Given the description of an element on the screen output the (x, y) to click on. 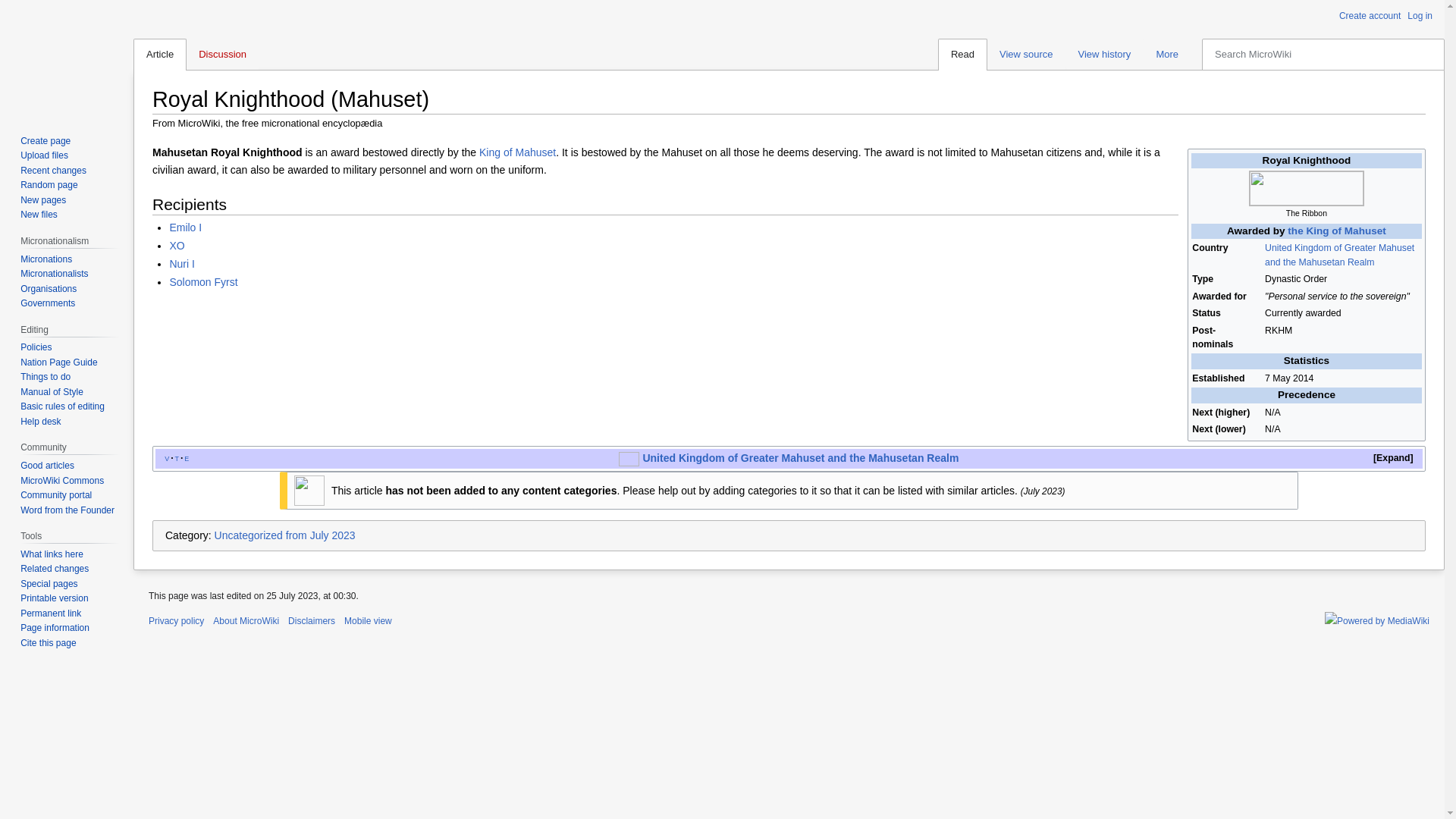
XO (176, 245)
Emiel Hardy (185, 227)
Go (1433, 54)
Template:KingdomofMahusetNavbox (166, 457)
United Kingdom of Greater Mahuset and the Mahusetan Realm (800, 458)
King of Mahuset (517, 152)
Nuri van Dijk (180, 263)
Edit this template (186, 457)
Solomon Fyrst (202, 282)
Template talk:KingdomofMahusetNavbox (176, 457)
King of Mahuset (517, 152)
United Kingdom of Greater Mahuset and the Mahusetan Realm (800, 458)
Nuri I (180, 263)
Go (1433, 54)
